Given the description of an element on the screen output the (x, y) to click on. 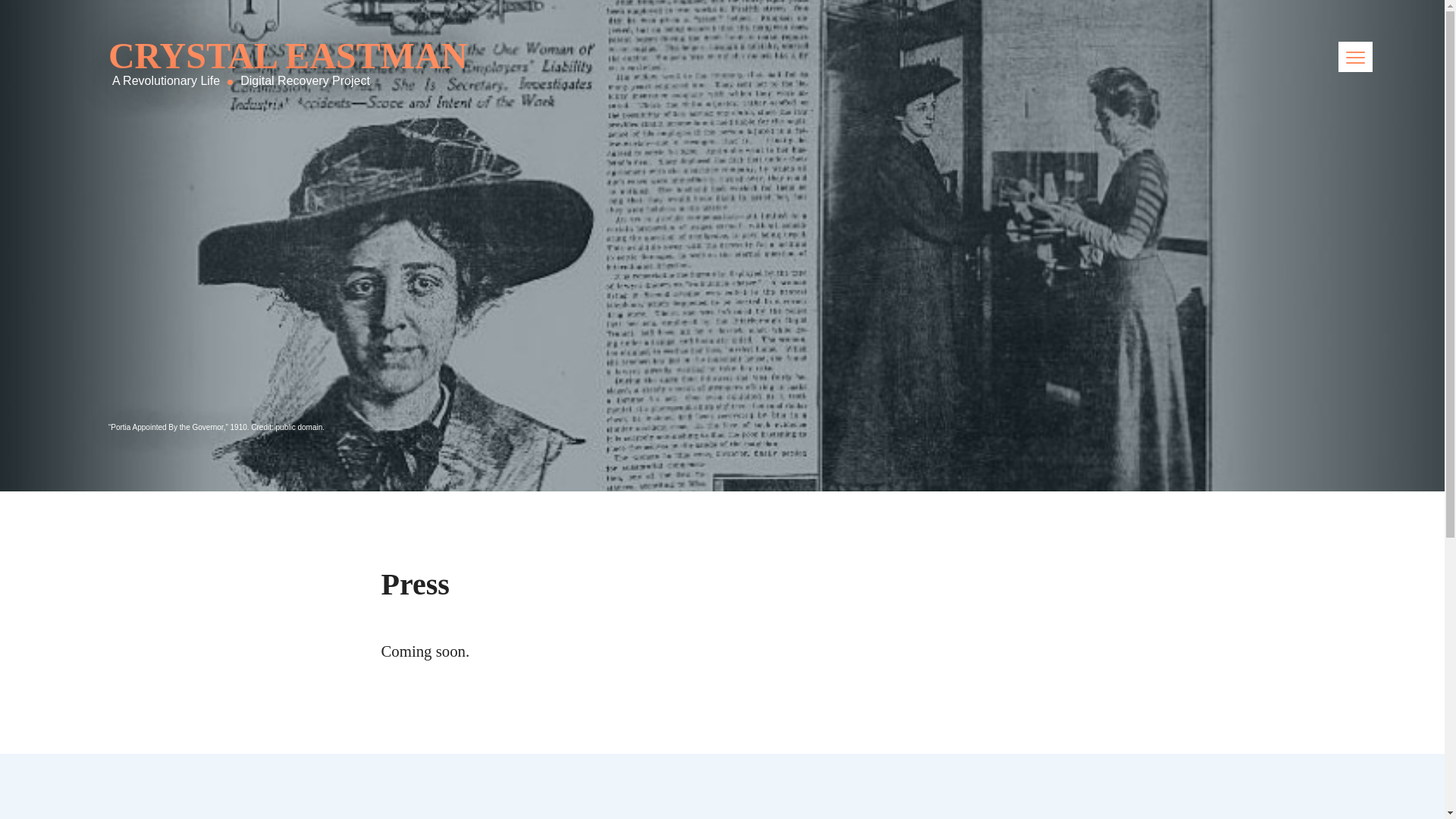
CRYSTAL EASTMAN (287, 56)
